Given the description of an element on the screen output the (x, y) to click on. 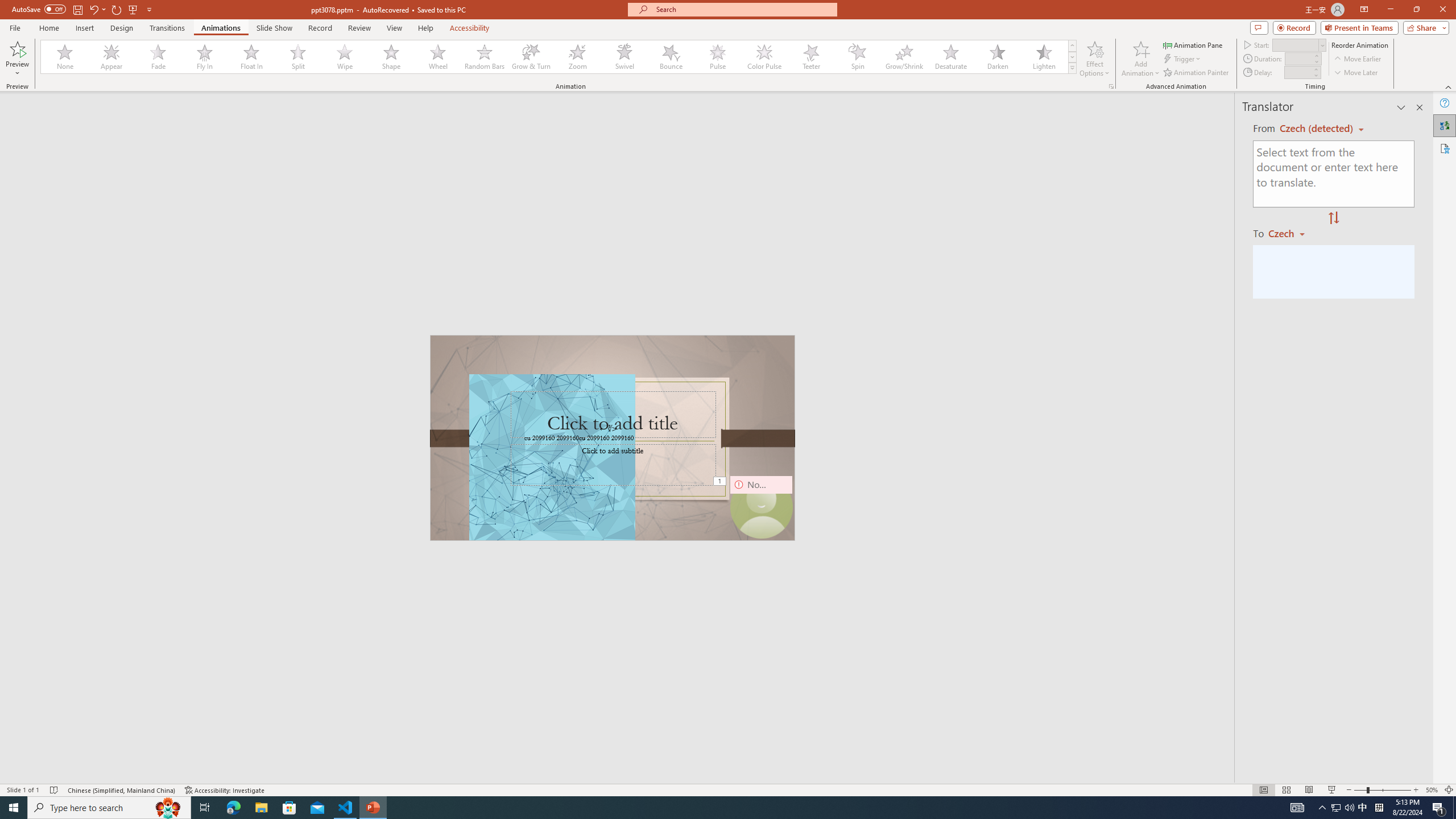
Split (298, 56)
Subtitle TextBox (613, 464)
Float In (251, 56)
Bounce (670, 56)
Pulse (717, 56)
Wipe (344, 56)
Czech (1291, 232)
